Given the description of an element on the screen output the (x, y) to click on. 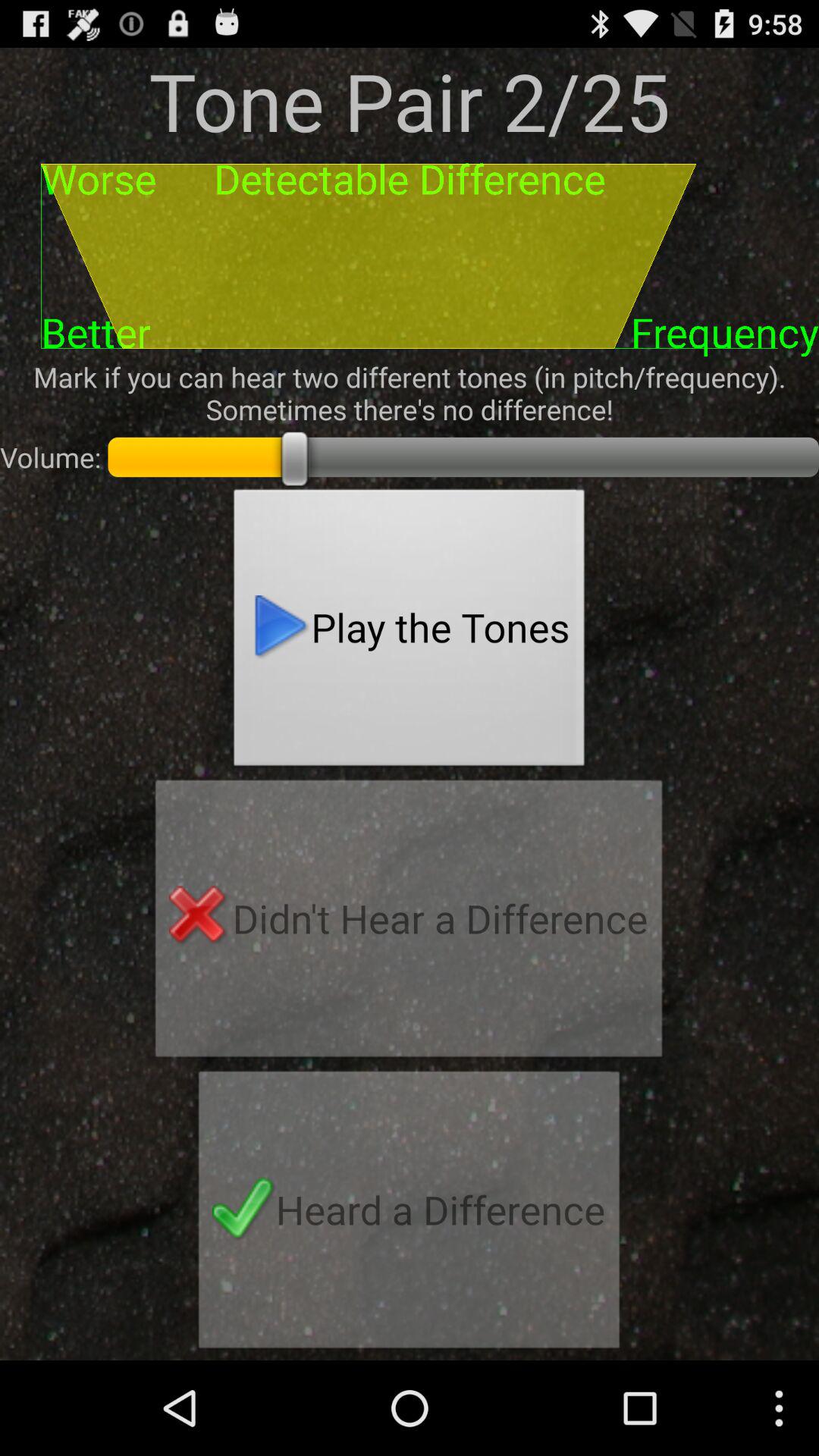
open the app to the right of volume:  icon (409, 631)
